Given the description of an element on the screen output the (x, y) to click on. 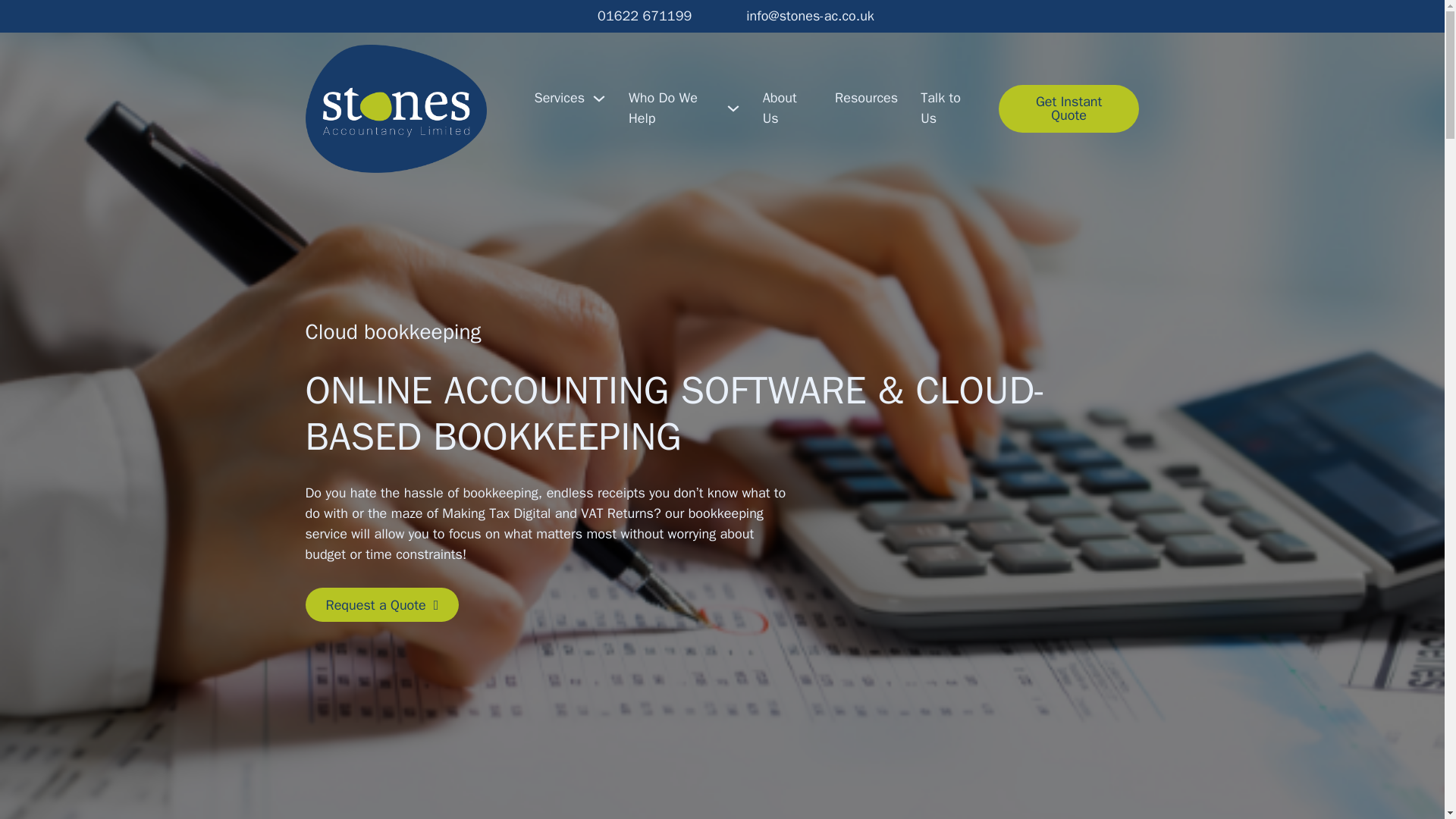
Services (559, 97)
About Us (787, 107)
Resources (866, 97)
Who Do We Help (673, 107)
Talk to Us (947, 107)
01622 671199 (643, 15)
